Given the description of an element on the screen output the (x, y) to click on. 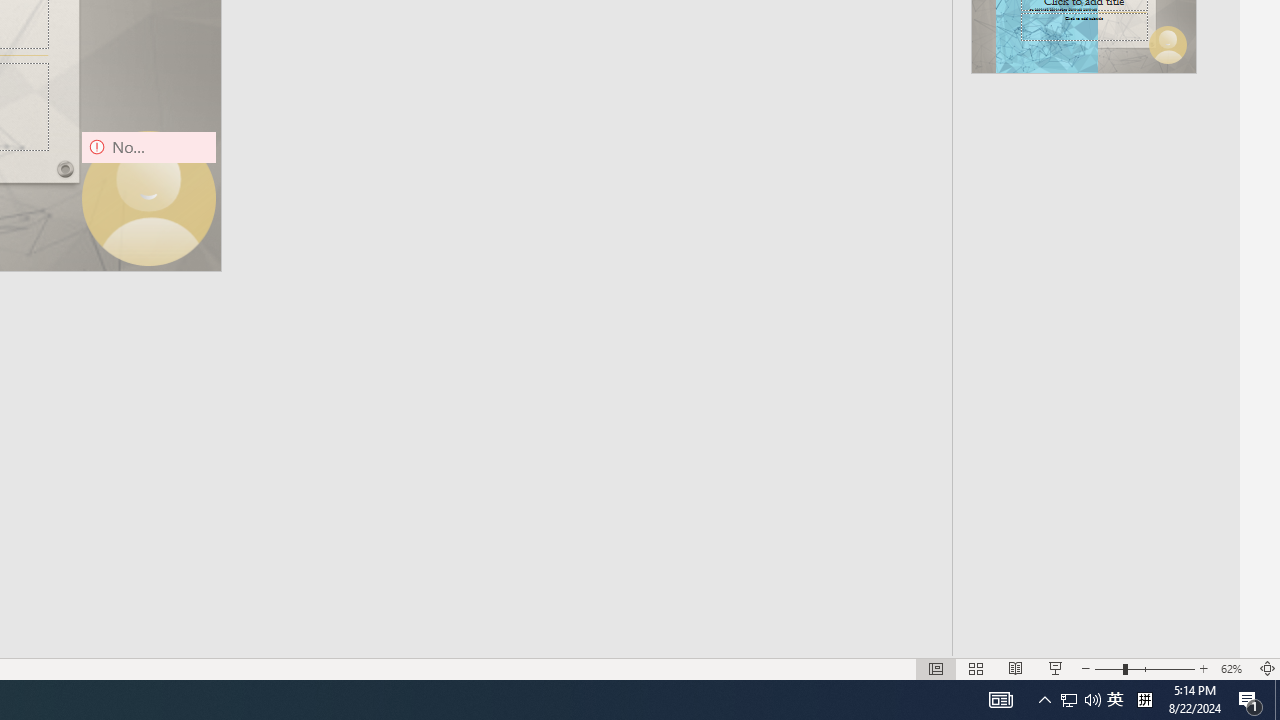
Zoom 62% (1234, 668)
